Given the description of an element on the screen output the (x, y) to click on. 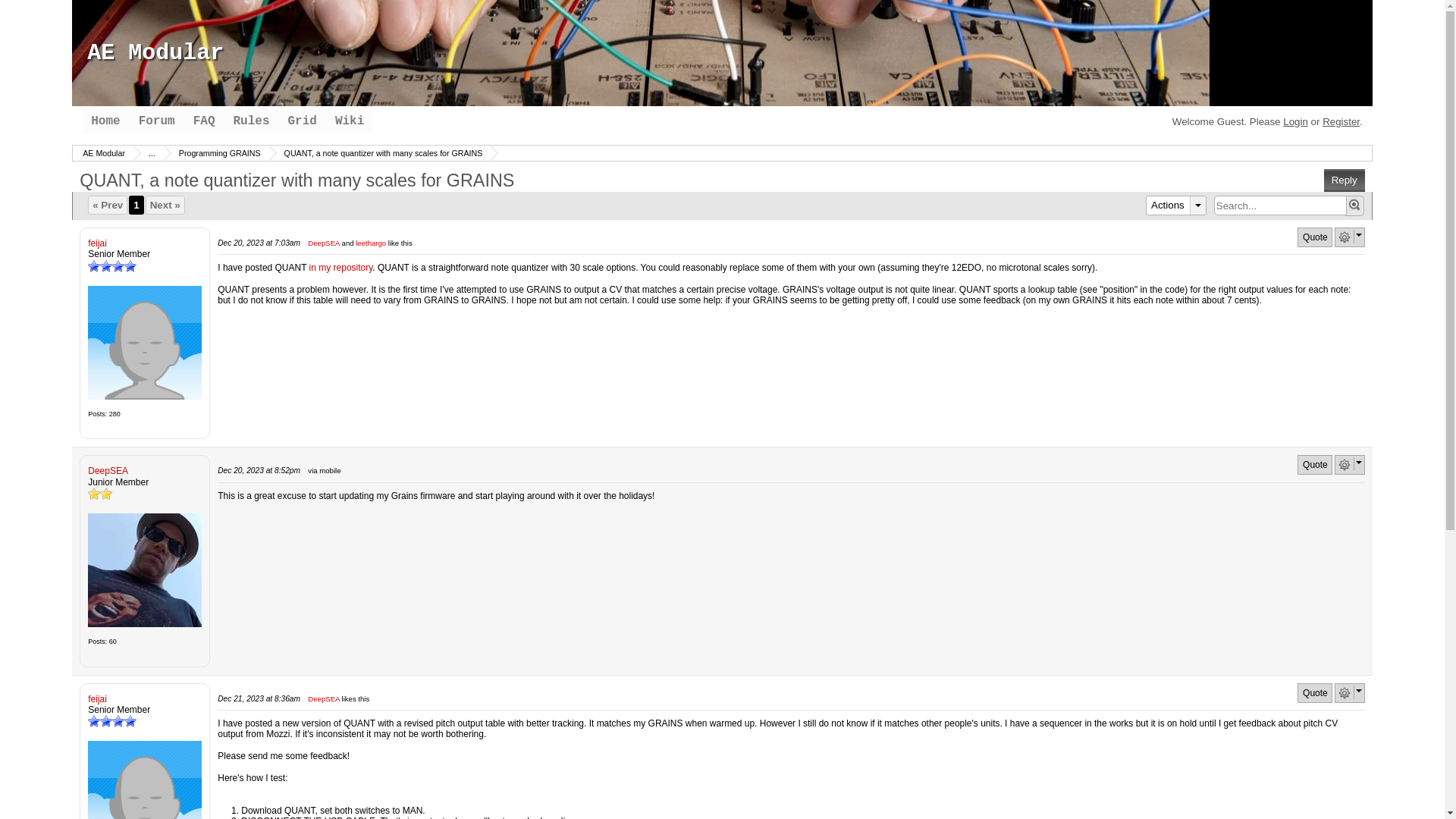
Forum (156, 121)
Post Options (1344, 464)
Register (1340, 121)
Wiki (349, 121)
Post Options (1344, 236)
Grid (302, 121)
Rules (251, 121)
feijai (144, 780)
FAQ (204, 121)
... (149, 152)
